Given the description of an element on the screen output the (x, y) to click on. 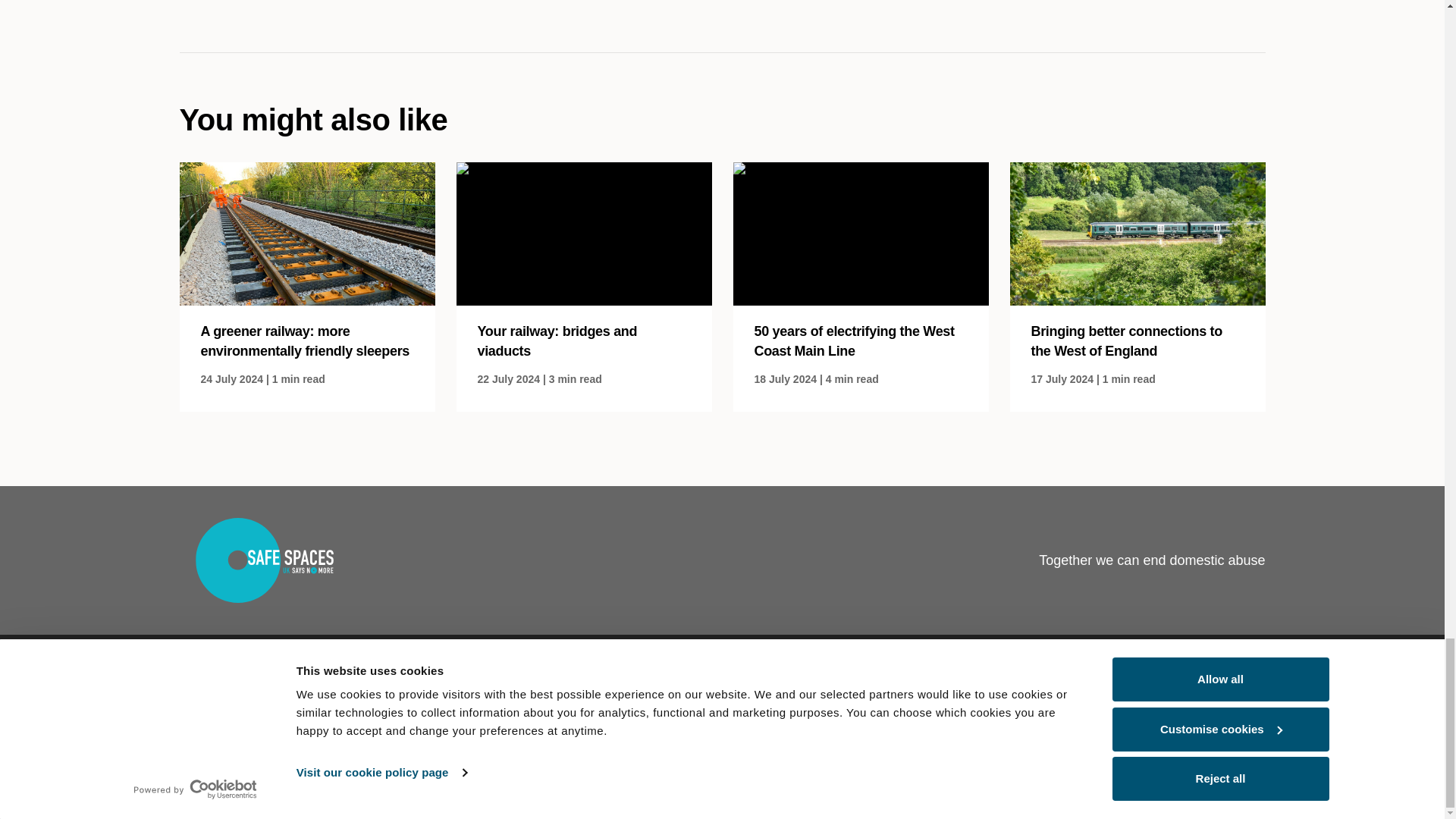
Network Rail on Youtube (1155, 752)
Network Rail on Linkedin (1080, 752)
Network Rail on Twitter (1118, 752)
Network Rail on Instagram (1044, 752)
Network Rail on Facebook (1006, 752)
